Given the description of an element on the screen output the (x, y) to click on. 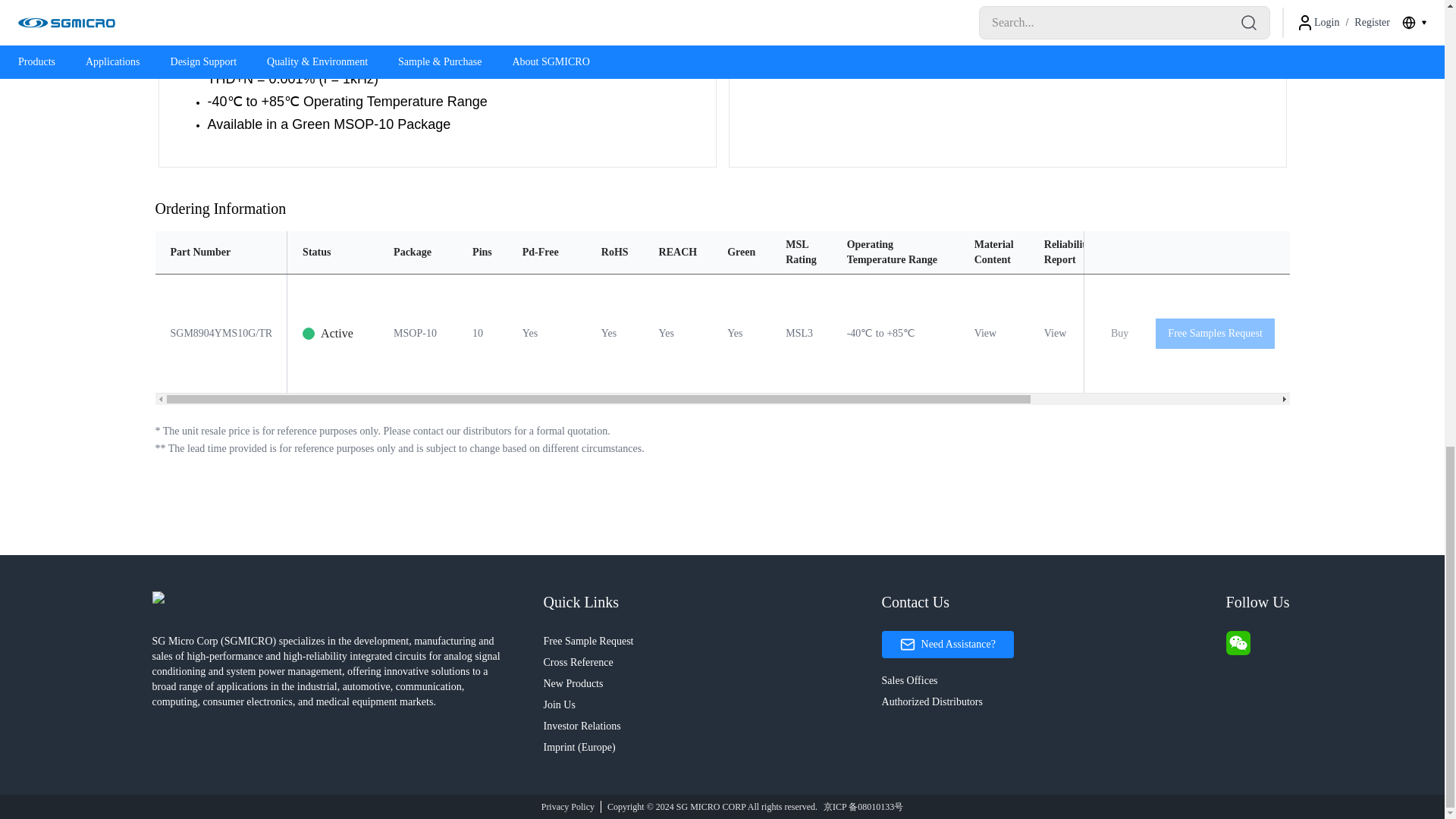
Need Assistance? (947, 643)
Cross Reference (711, 661)
Join Us (711, 703)
Buy (1119, 333)
Privacy Policy (567, 806)
Investor Relations (711, 725)
Authorized Distributors (1051, 701)
Free Samples Request (1215, 333)
New Products (711, 682)
Sales Offices (1051, 680)
Free Sample Request (711, 640)
